Given the description of an element on the screen output the (x, y) to click on. 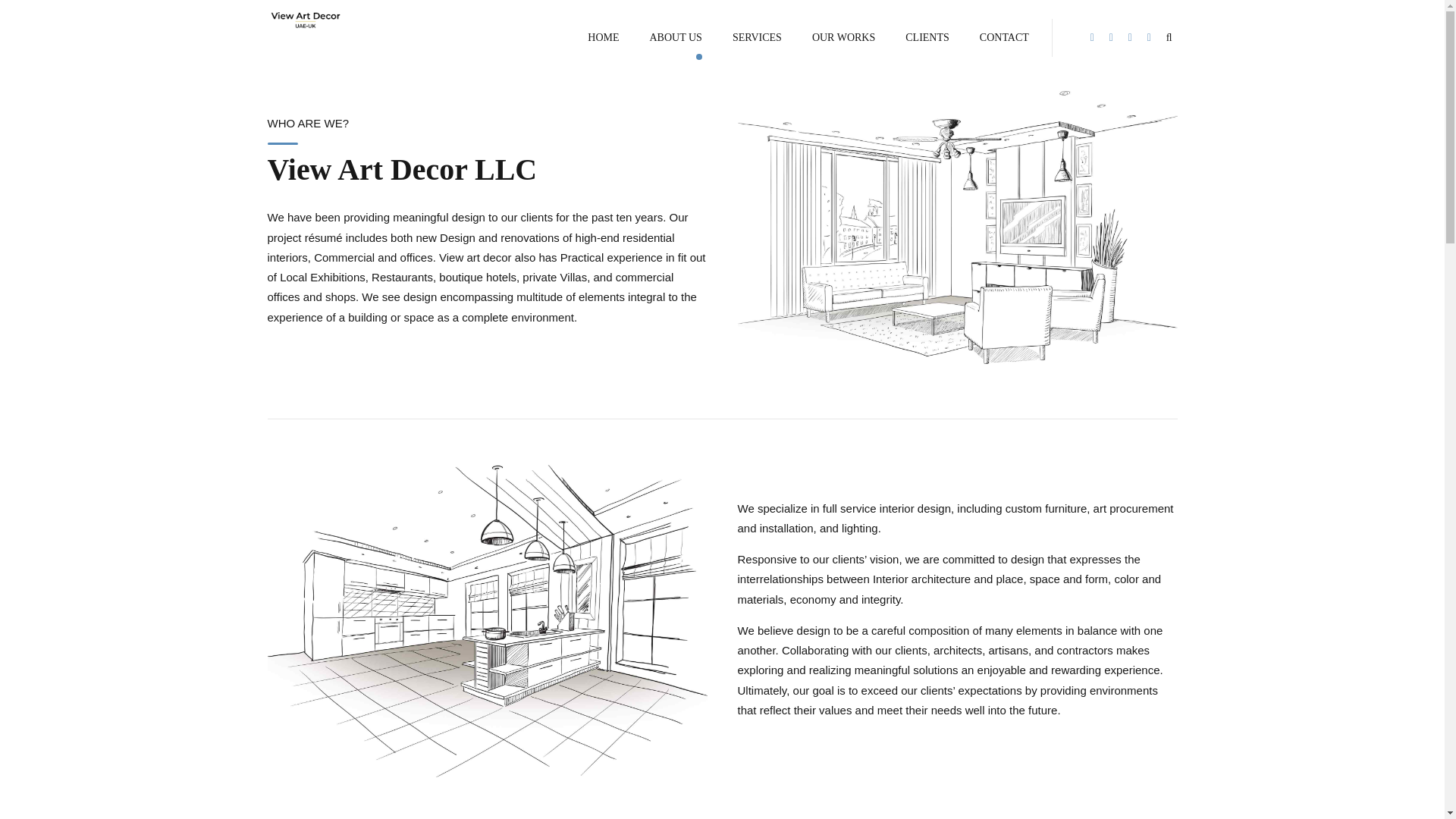
CLIENTS (927, 38)
ABOUT US (675, 38)
OUR WORKS (843, 38)
CONTACT (1004, 38)
image-about-01 (956, 226)
SERVICES (756, 38)
HOME (603, 38)
